Given the description of an element on the screen output the (x, y) to click on. 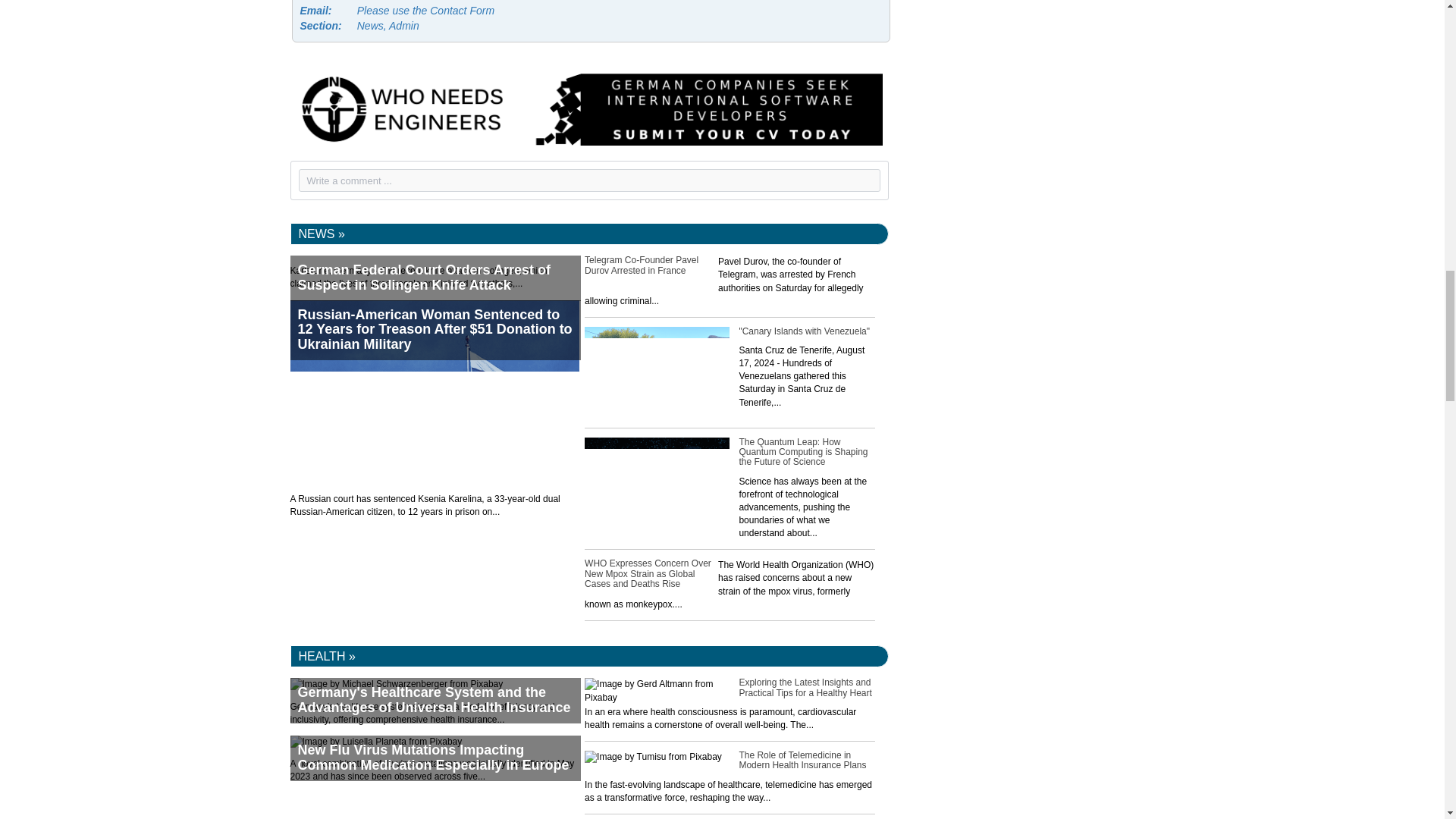
Health (326, 656)
Telegram Co-Founder Pavel Durov Arrested in France (730, 300)
News (321, 233)
